Given the description of an element on the screen output the (x, y) to click on. 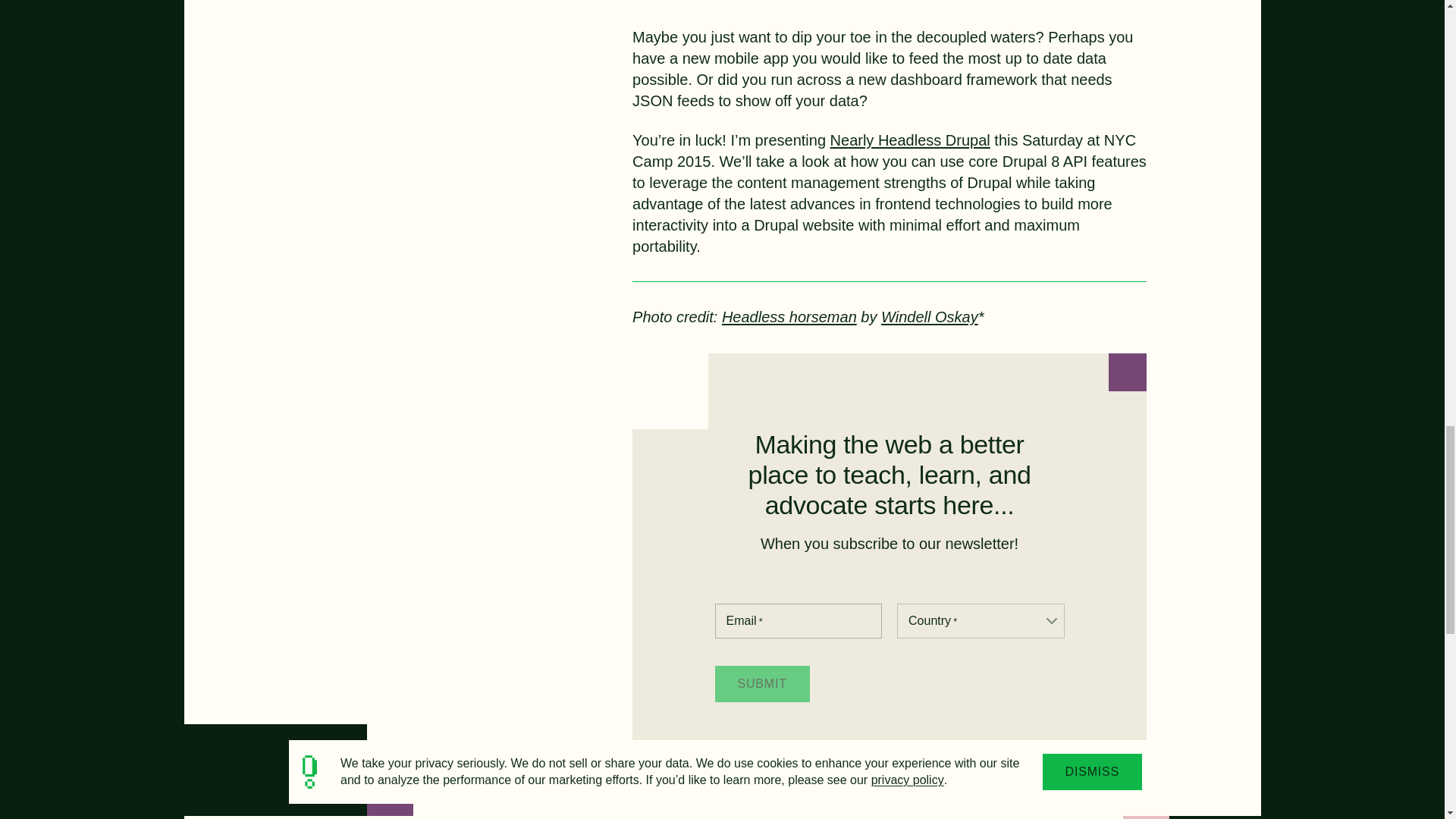
Nearly Headless Drupal (909, 139)
Windell Oskay (929, 316)
Headless horseman (789, 316)
Submit (761, 683)
Submit (761, 683)
